Given the description of an element on the screen output the (x, y) to click on. 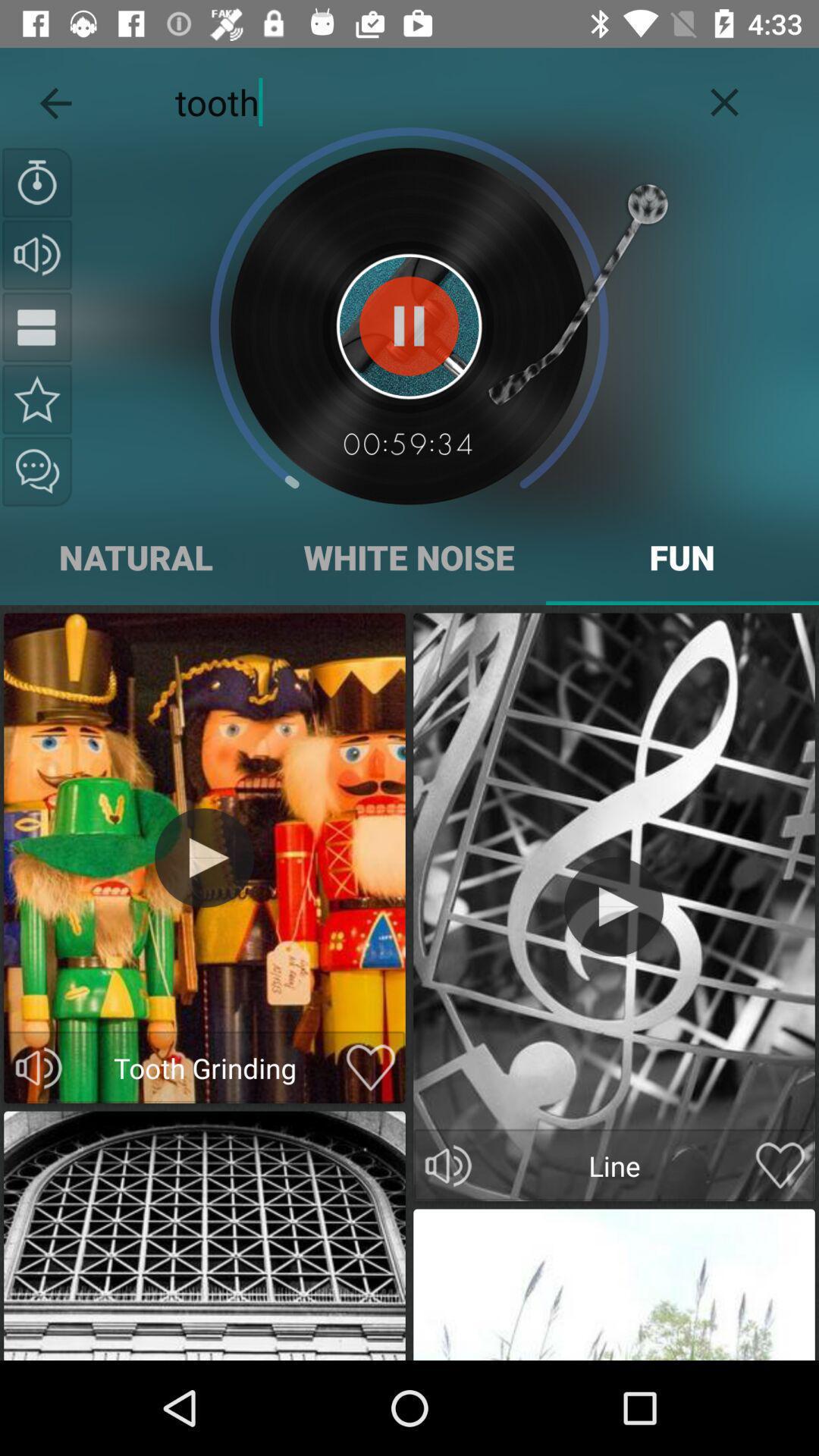
pause (37, 327)
